Given the description of an element on the screen output the (x, y) to click on. 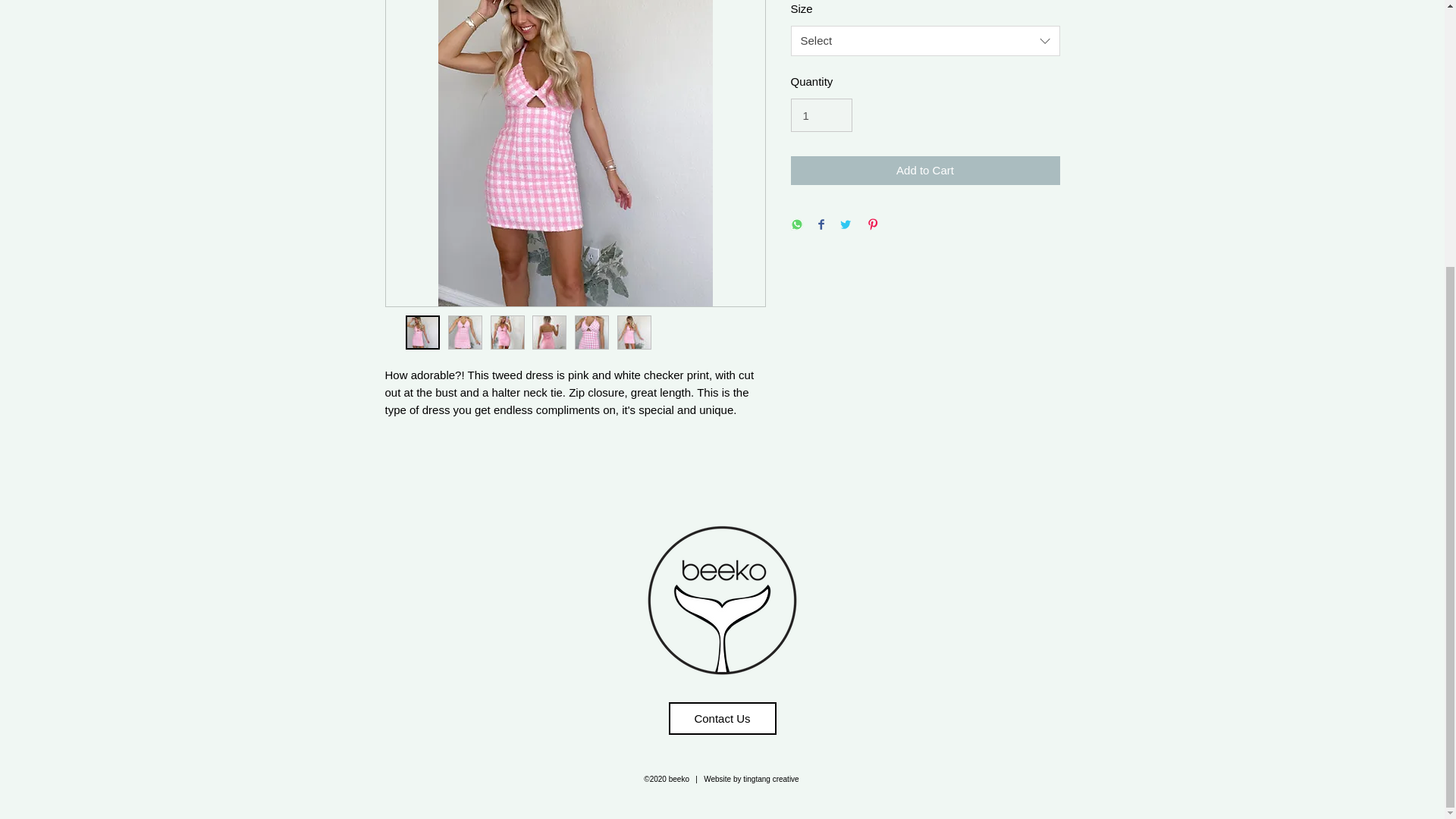
Add to Cart (924, 170)
tingtang creative (769, 778)
Contact Us (722, 717)
1 (820, 114)
Select (924, 40)
